Given the description of an element on the screen output the (x, y) to click on. 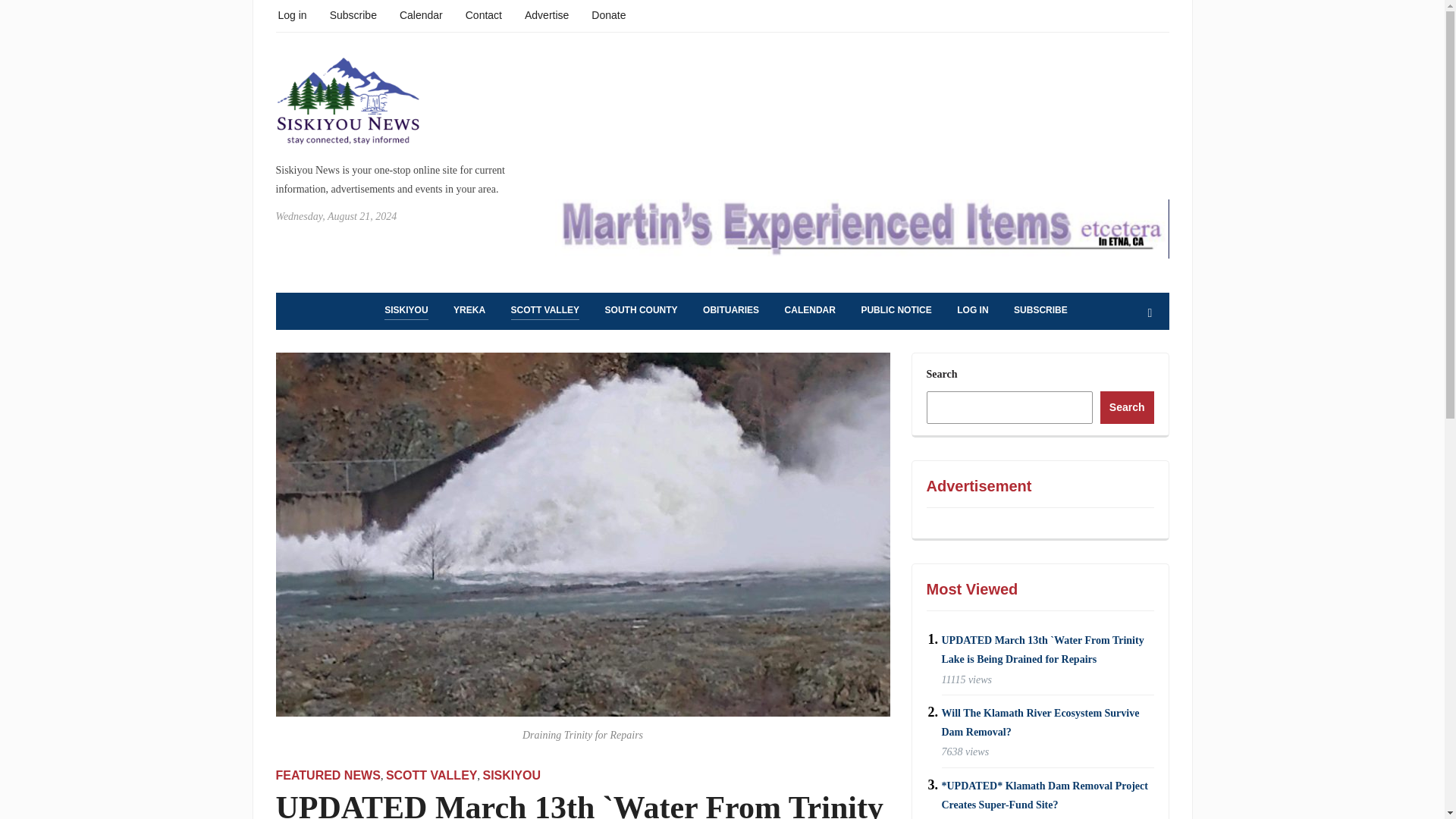
OBITUARIES (730, 310)
Log in (291, 14)
Donate (608, 14)
FEATURED NEWS (328, 775)
SOUTH COUNTY (641, 310)
Search (1149, 313)
YREKA (468, 310)
Calendar (420, 14)
SUBSCRIBE (1040, 310)
